Given the description of an element on the screen output the (x, y) to click on. 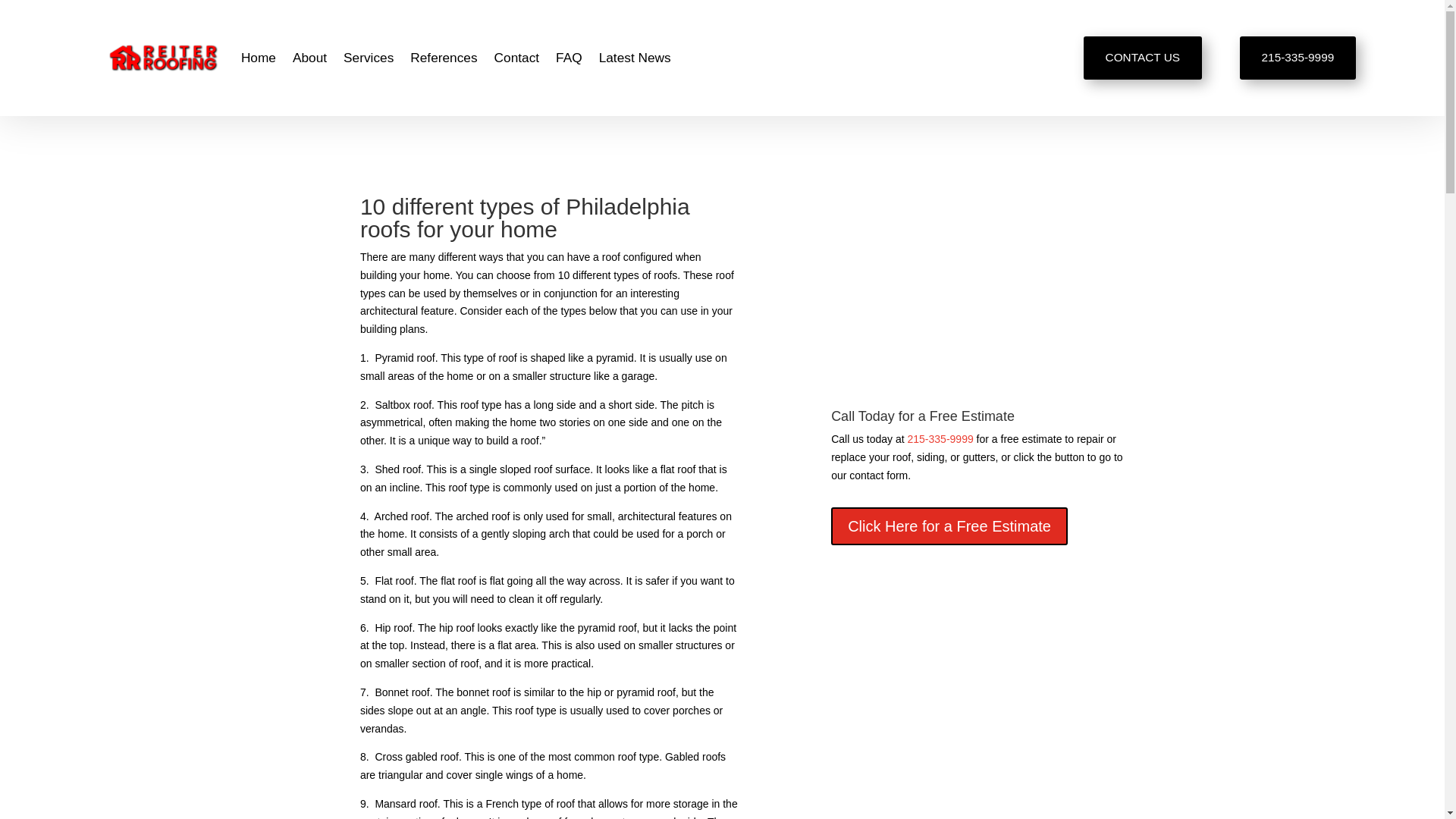
215-335-9999 (1297, 57)
Click Here for a Free Estimate (949, 525)
Latest News (634, 57)
References (443, 57)
CONTACT US (1142, 57)
215-335-9999 (940, 439)
